Given the description of an element on the screen output the (x, y) to click on. 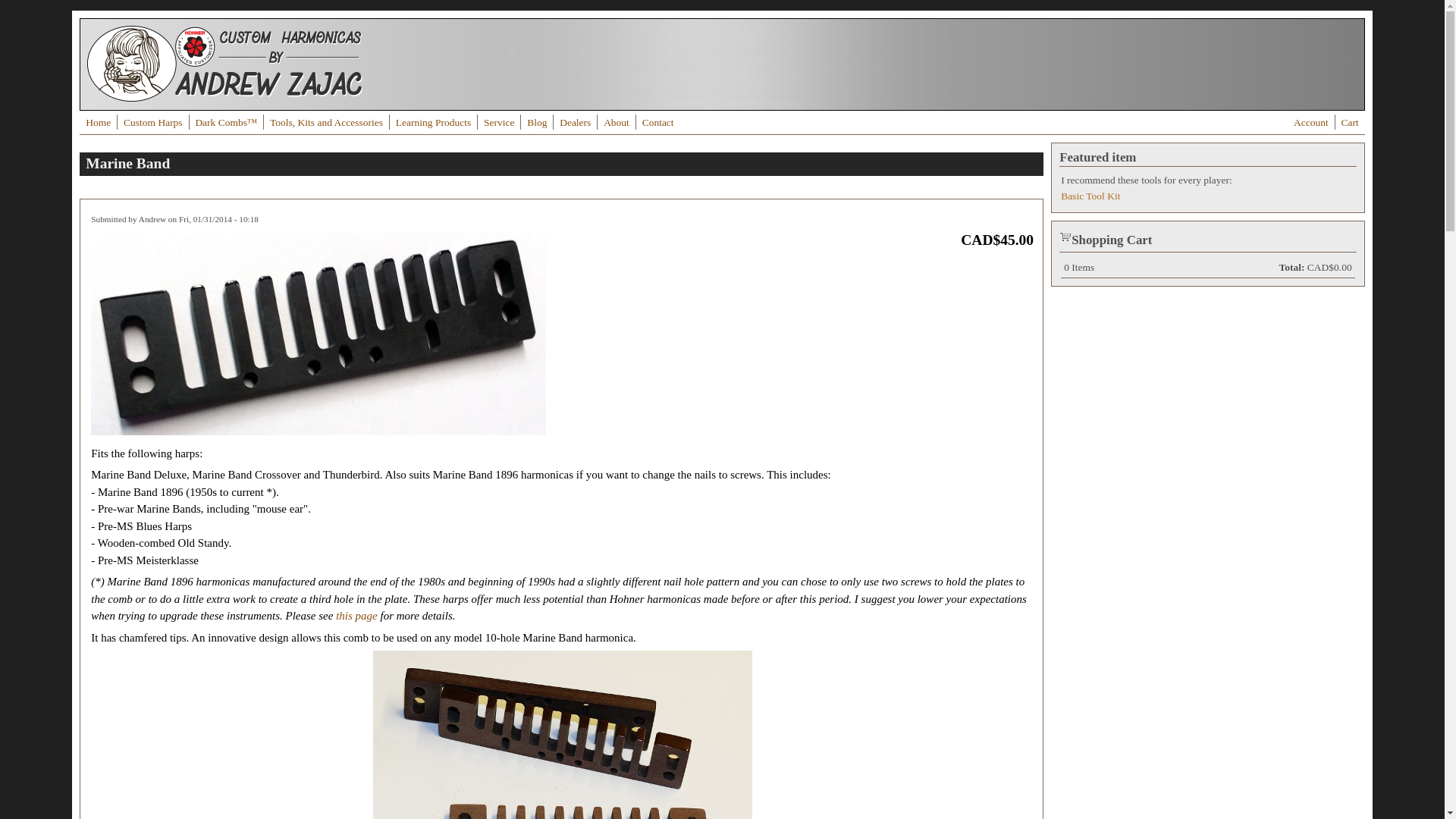
Service Element type: text (498, 122)
Home Element type: hover (224, 97)
Blog Element type: text (536, 122)
About Element type: text (616, 122)
Tools, Kits and Accessories Element type: text (325, 122)
Contact Element type: text (658, 122)
Home Element type: text (97, 122)
Cart Element type: text (1349, 122)
Custom Harps Element type: text (152, 122)
Account Element type: text (1310, 122)
this page Element type: text (356, 615)
Skip to main content Element type: text (47, 10)
Learning Products Element type: text (432, 122)
View your shopping cart. Element type: hover (1065, 235)
Dealers Element type: text (574, 122)
Basic Tool Kit Element type: text (1090, 195)
